Given the description of an element on the screen output the (x, y) to click on. 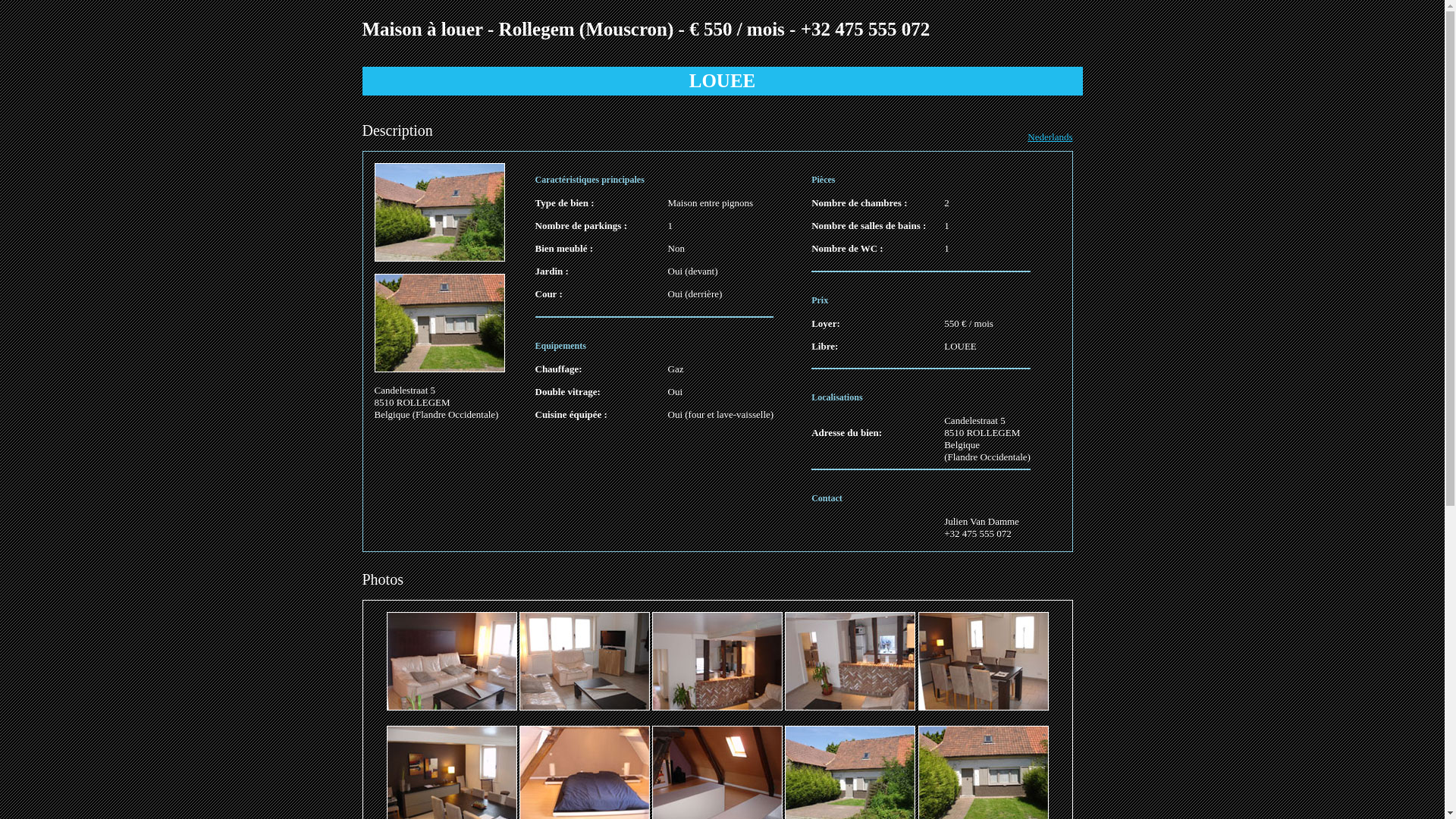
Nederlands Element type: text (1049, 136)
